Given the description of an element on the screen output the (x, y) to click on. 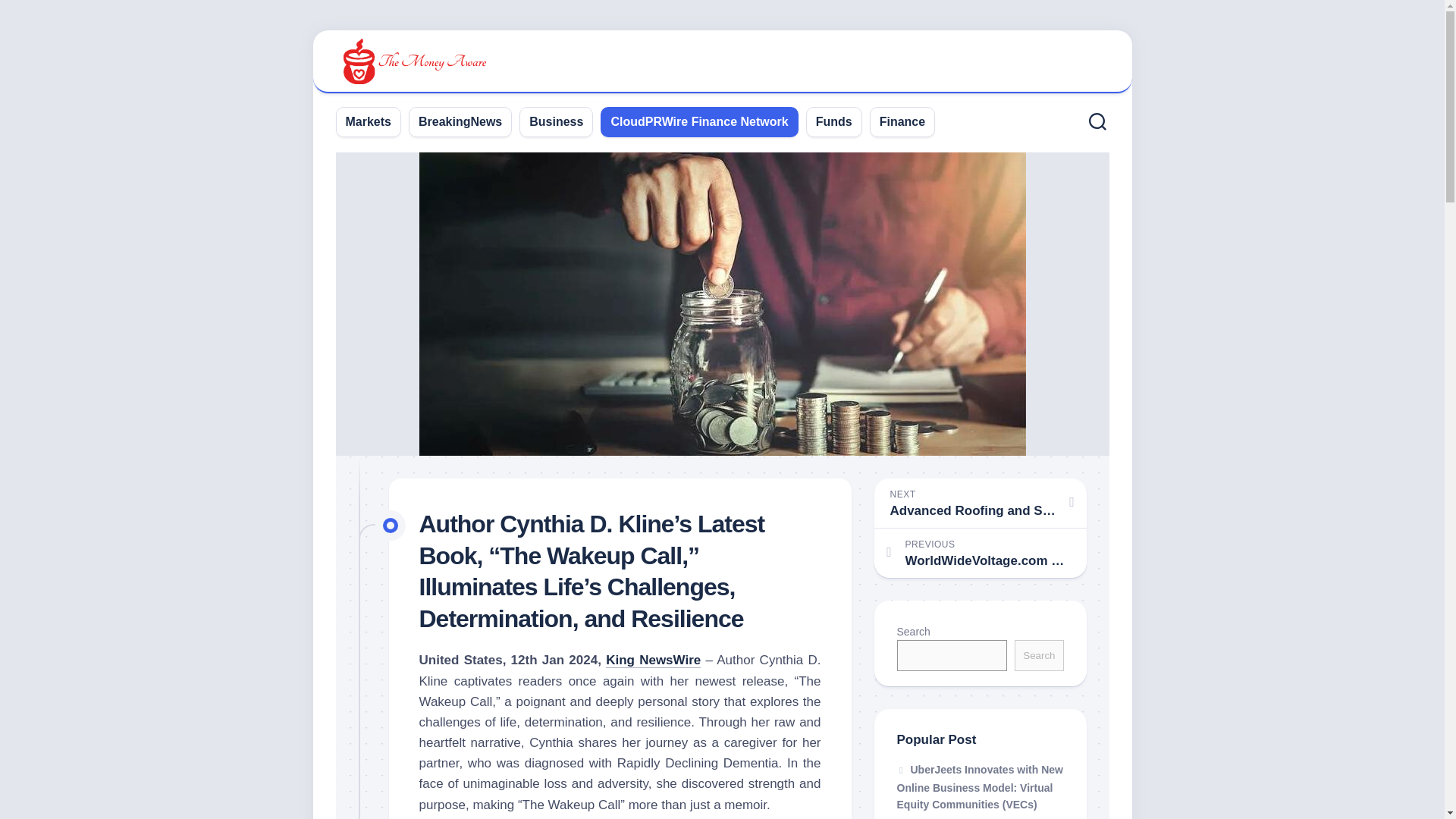
Business (556, 121)
Markets (368, 121)
CloudPRWire Finance Network (698, 121)
Funds (833, 121)
Search (1038, 654)
Finance (901, 121)
BreakingNews (460, 121)
King NewsWire (652, 659)
